Given the description of an element on the screen output the (x, y) to click on. 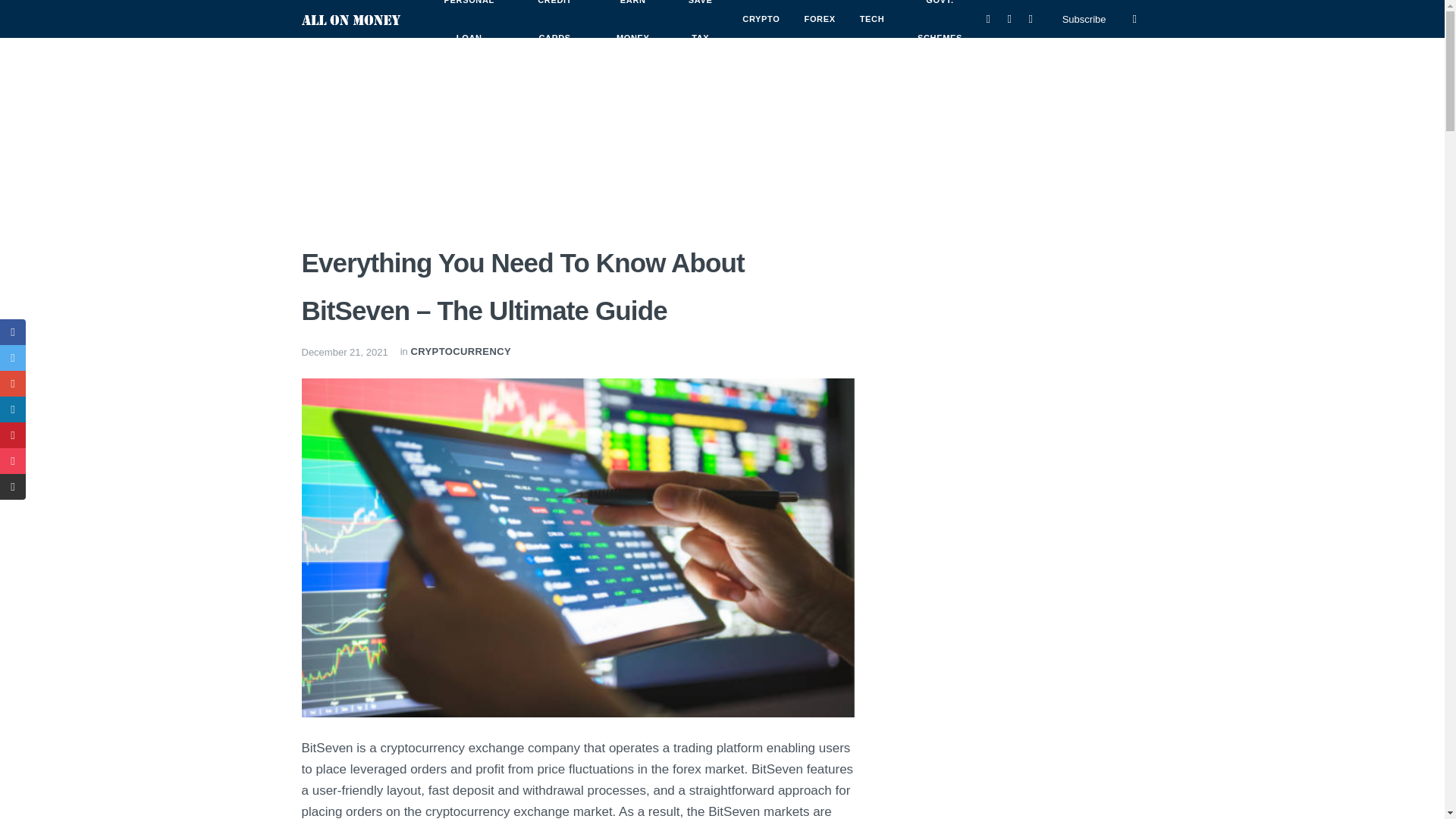
Subscribe (1084, 19)
CRYPTO (761, 18)
EARN MONEY (632, 28)
FOREX (819, 18)
TECH (871, 18)
CRYPTOCURRENCY (460, 351)
GOVT. SCHEMES (939, 28)
PERSONAL LOAN (469, 28)
CREDIT CARDS (554, 28)
SAVE TAX (699, 28)
